Given the description of an element on the screen output the (x, y) to click on. 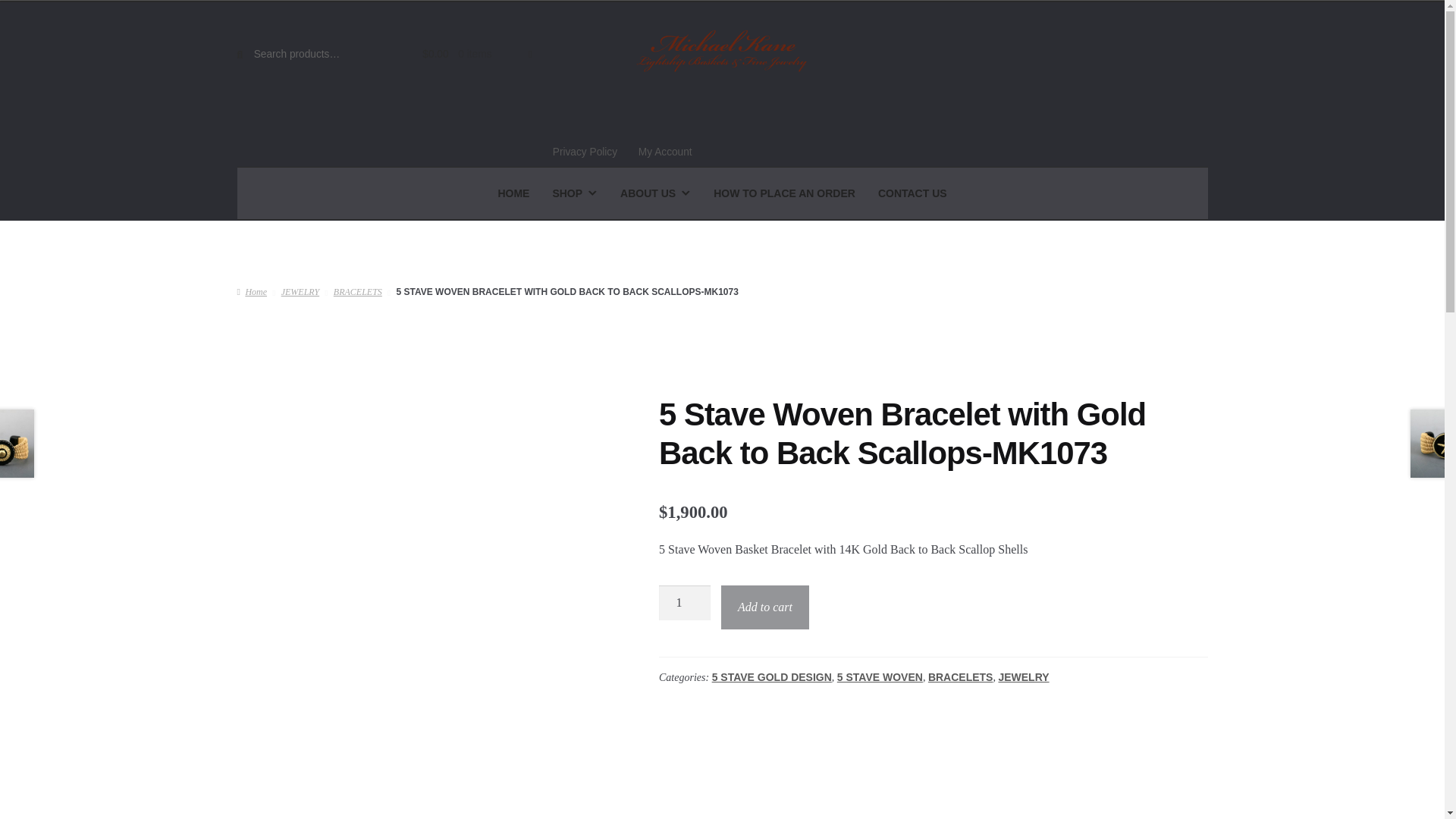
Privacy Policy (584, 152)
View your shopping cart (469, 54)
SHOP (574, 193)
HOME (513, 193)
1 (684, 602)
My Account (664, 152)
